Given the description of an element on the screen output the (x, y) to click on. 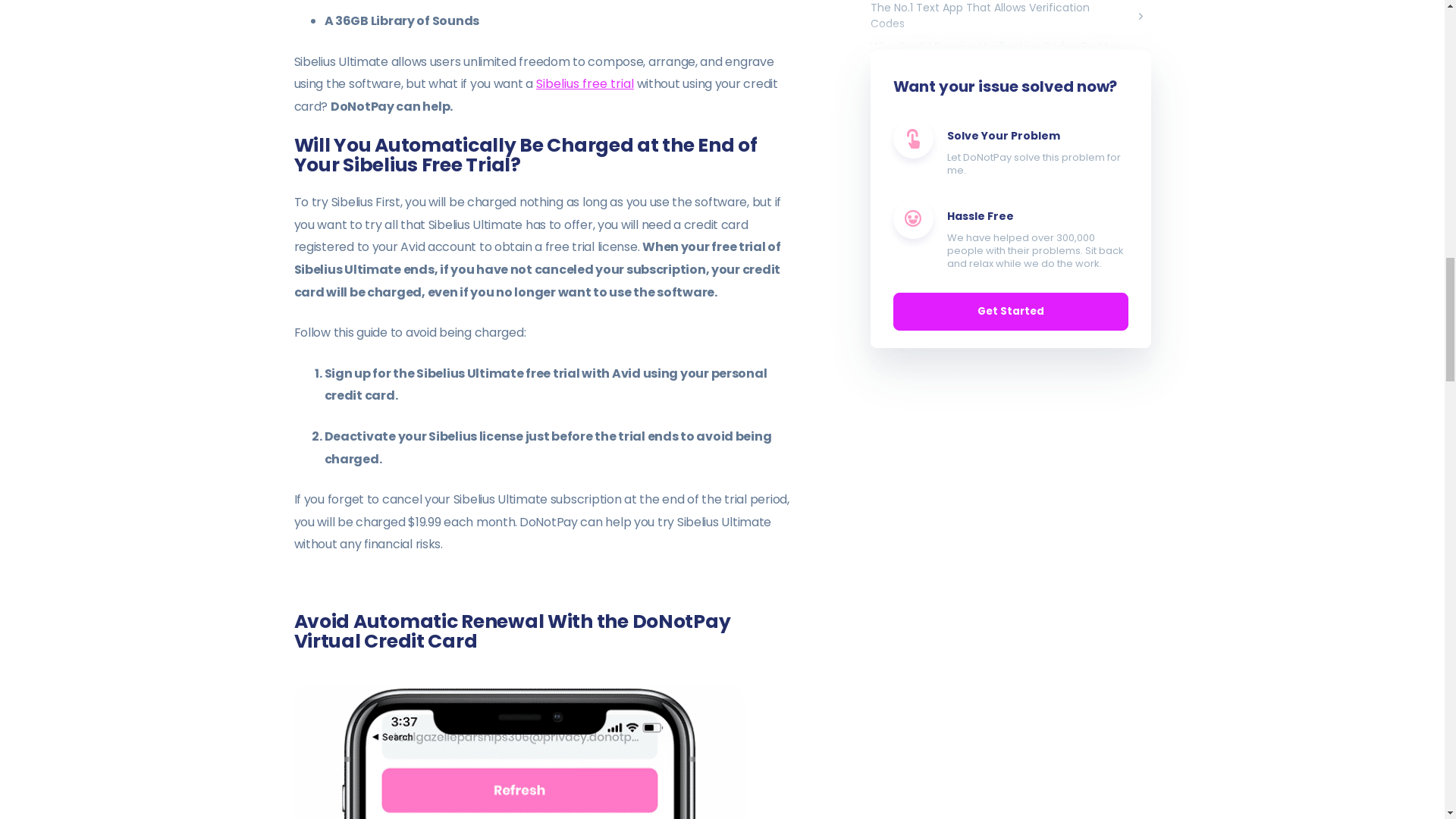
Sibelius free trial (584, 83)
